Given the description of an element on the screen output the (x, y) to click on. 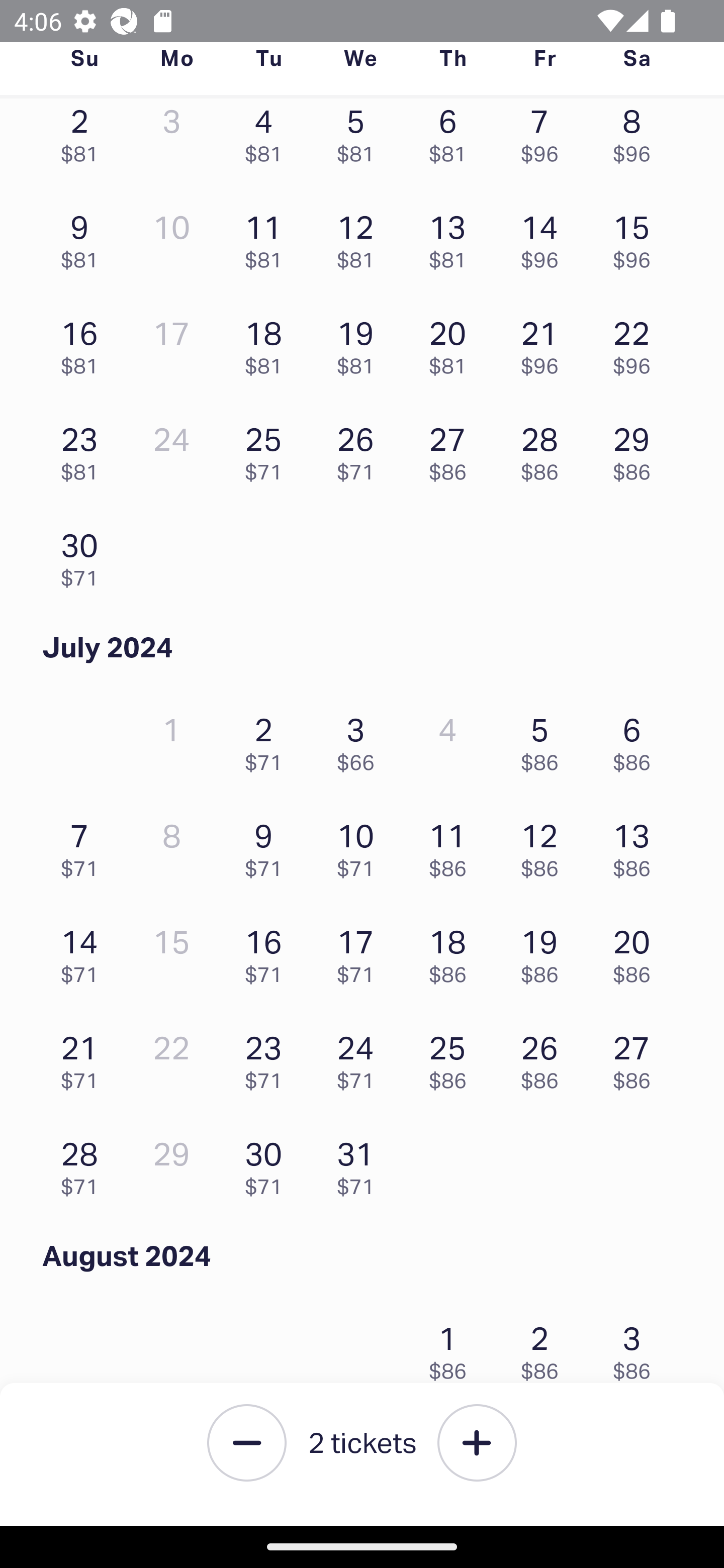
2 $81 (84, 139)
4 $81 (268, 139)
5 $81 (360, 139)
6 $81 (452, 139)
7 $96 (544, 139)
8 $96 (636, 139)
9 $81 (84, 237)
11 $81 (268, 237)
12 $81 (360, 237)
13 $81 (452, 237)
14 $96 (544, 237)
15 $96 (636, 237)
16 $81 (84, 342)
18 $81 (268, 342)
19 $81 (360, 342)
20 $81 (452, 342)
21 $96 (544, 342)
22 $96 (636, 342)
23 $81 (84, 448)
25 $71 (268, 448)
26 $71 (360, 448)
27 $86 (452, 448)
28 $86 (544, 448)
29 $86 (636, 448)
30 $71 (84, 554)
2 $71 (268, 738)
3 $66 (360, 738)
5 $86 (544, 738)
6 $86 (636, 738)
7 $71 (84, 845)
9 $71 (268, 845)
10 $71 (360, 845)
11 $86 (452, 845)
12 $86 (544, 845)
13 $86 (636, 845)
14 $71 (84, 950)
16 $71 (268, 950)
17 $71 (360, 950)
18 $86 (452, 950)
19 $86 (544, 950)
20 $86 (636, 950)
21 $71 (84, 1057)
23 $71 (268, 1057)
24 $71 (360, 1057)
25 $86 (452, 1057)
26 $86 (544, 1057)
27 $86 (636, 1057)
28 $71 (84, 1163)
30 $71 (268, 1163)
31 $71 (360, 1163)
1 $86 (452, 1347)
2 $86 (544, 1347)
3 $86 (636, 1347)
